Given the description of an element on the screen output the (x, y) to click on. 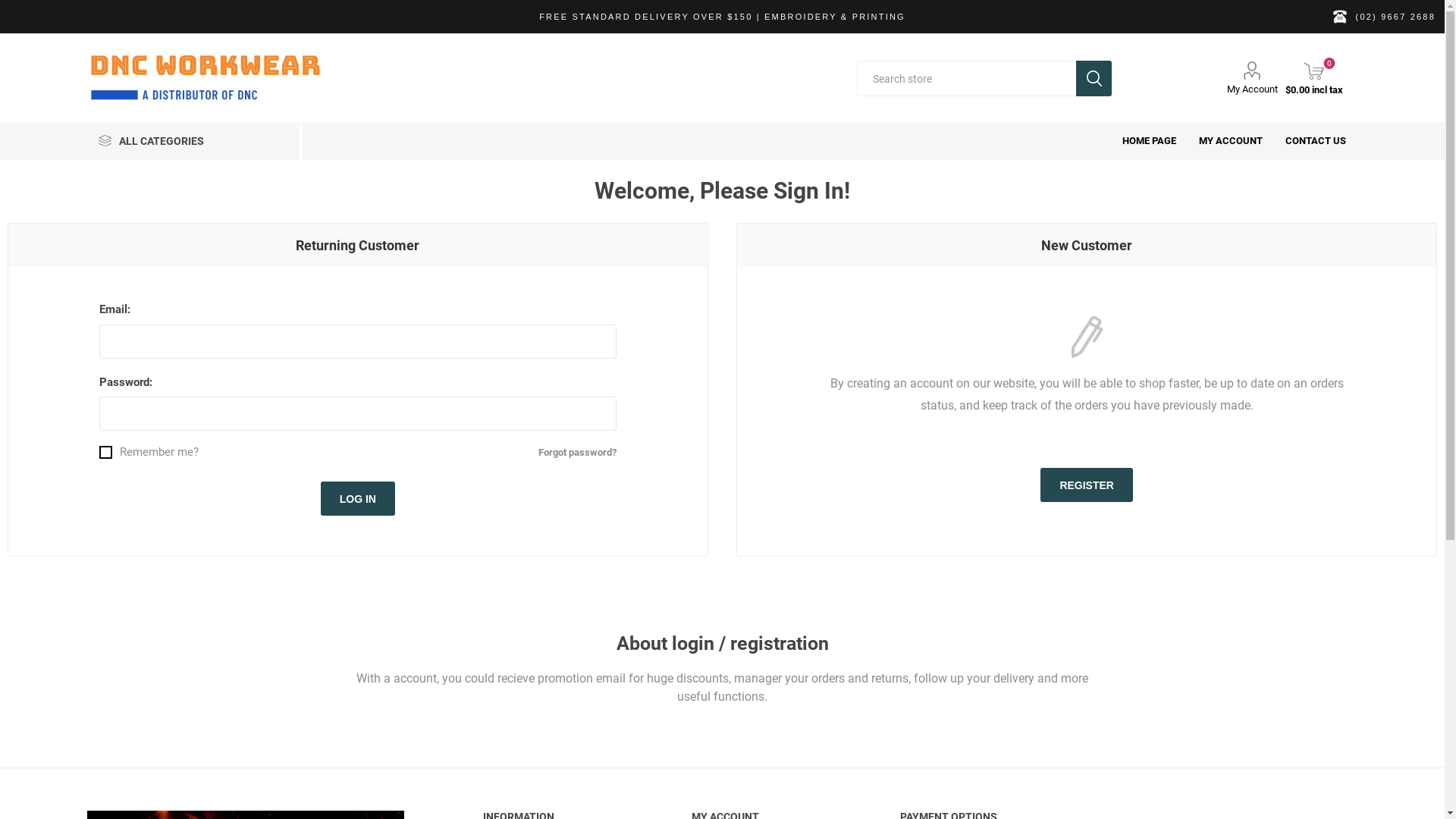
DNC Element type: hover (205, 78)
Register Element type: text (1086, 484)
Log in Element type: text (357, 498)
0
$0.00 incl tax Element type: text (1314, 78)
HOME PAGE Element type: text (1148, 141)
MY ACCOUNT Element type: text (1230, 141)
CONTACT US Element type: text (1315, 141)
Search Element type: text (1093, 78)
Forgot password? Element type: text (577, 452)
My Account Element type: text (1251, 77)
